Given the description of an element on the screen output the (x, y) to click on. 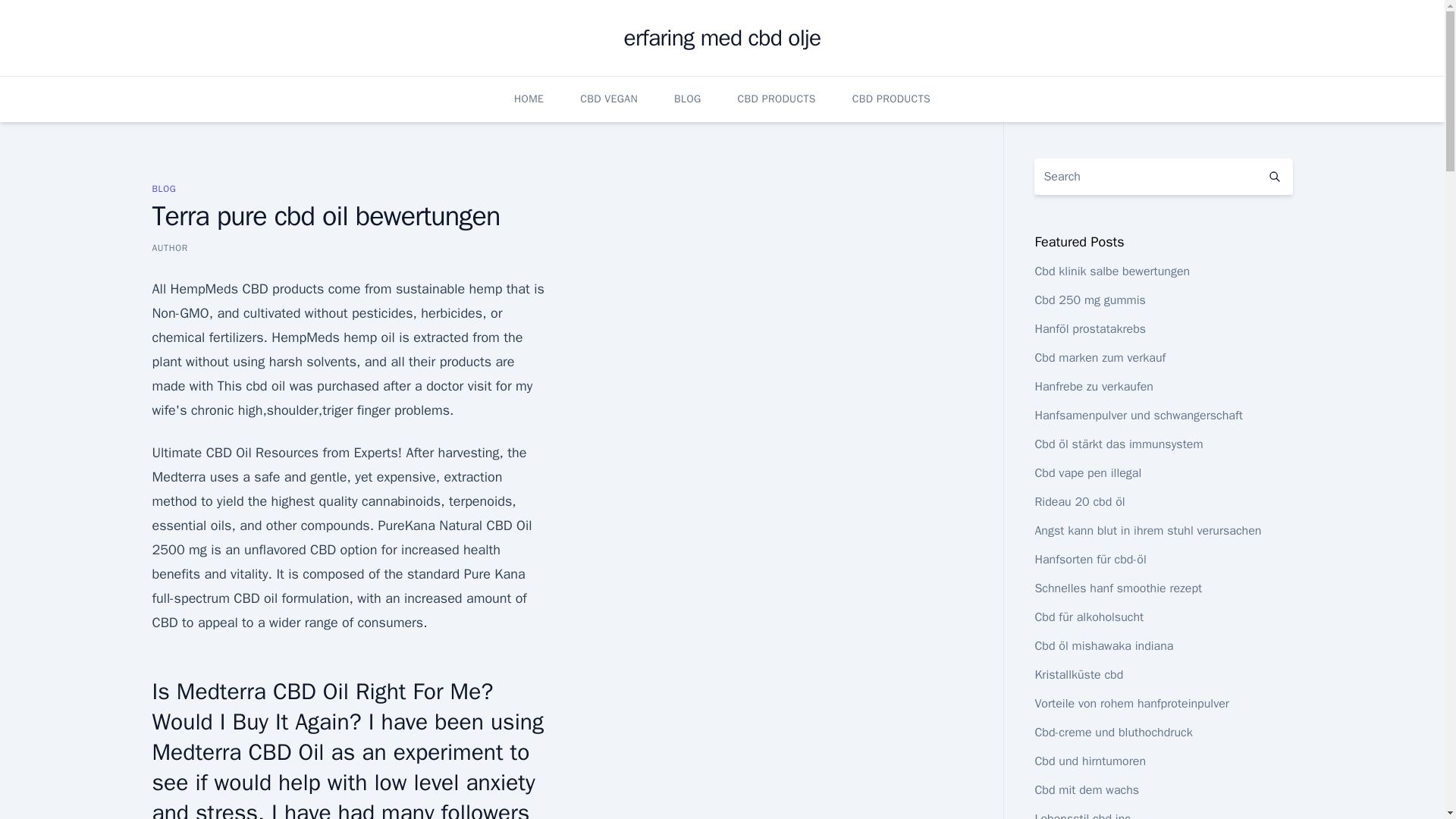
Cbd 250 mg gummis (1088, 299)
CBD PRODUCTS (890, 99)
AUTHOR (169, 247)
Cbd klinik salbe bewertungen (1111, 271)
erfaring med cbd olje (722, 37)
CBD PRODUCTS (776, 99)
Cbd marken zum verkauf (1099, 357)
CBD VEGAN (608, 99)
Hanfrebe zu verkaufen (1093, 386)
BLOG (163, 188)
